Given the description of an element on the screen output the (x, y) to click on. 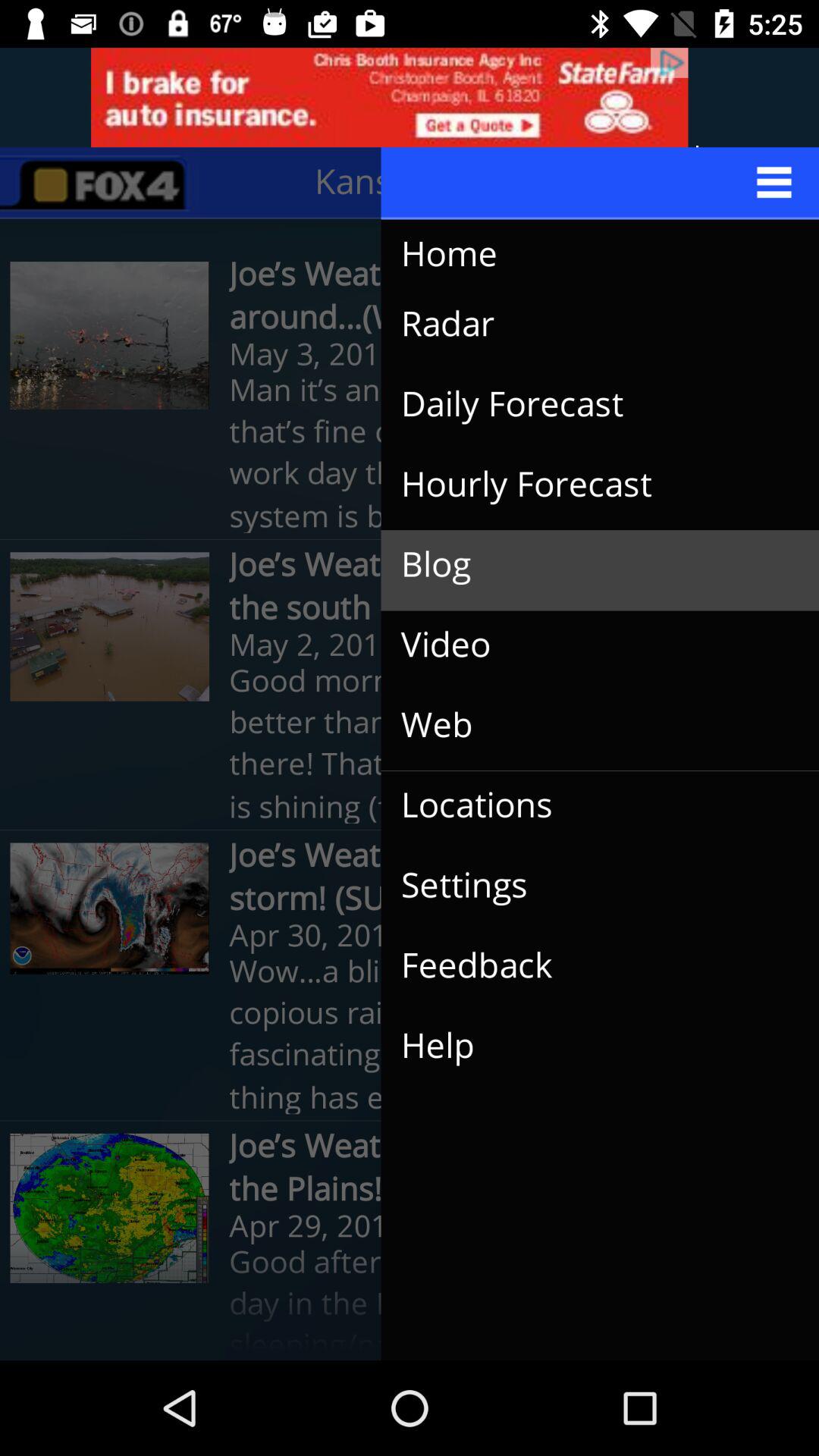
go to the fifth option under the menu (109, 1208)
select the menu (600, 183)
